Given the description of an element on the screen output the (x, y) to click on. 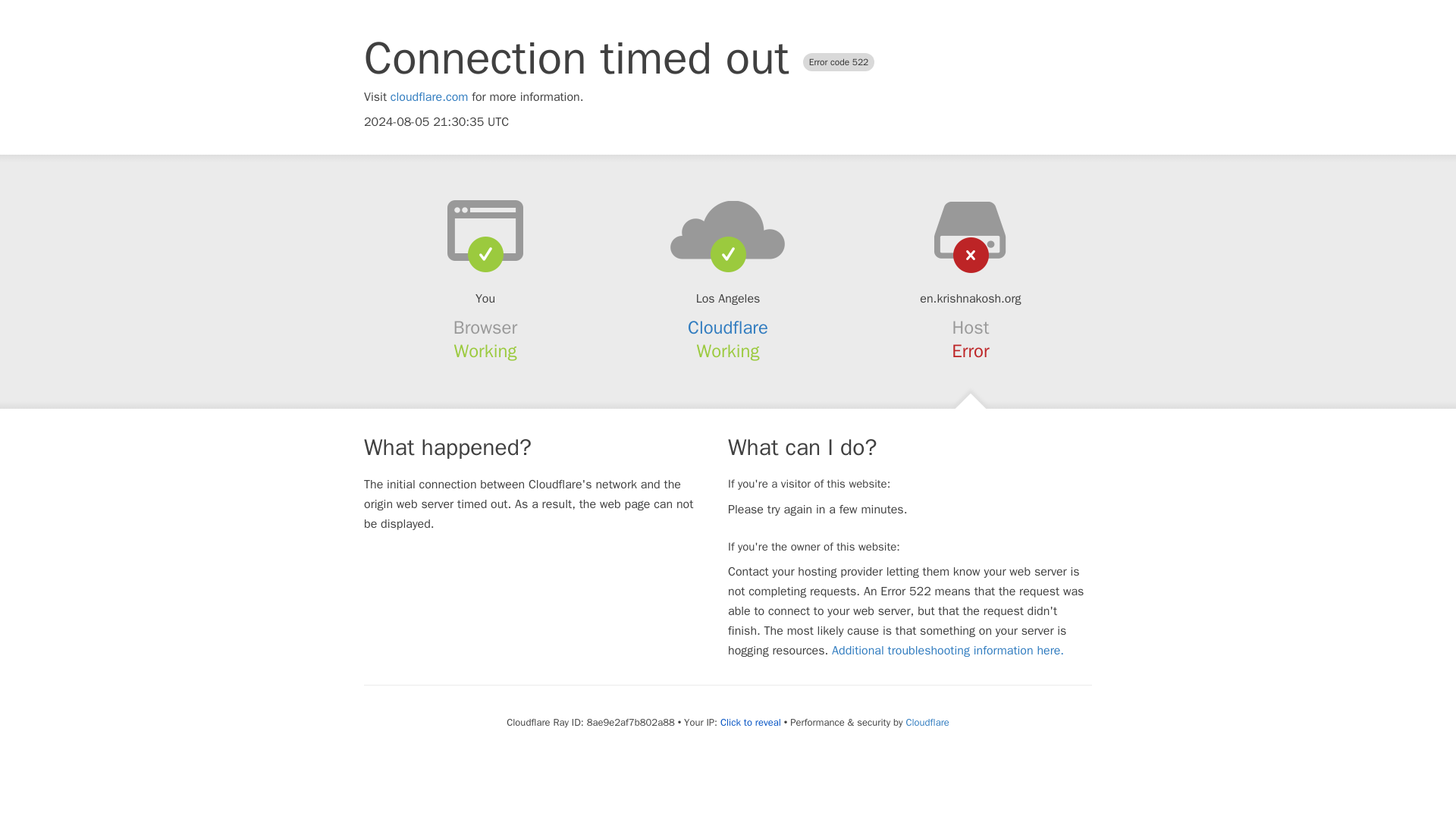
Click to reveal (750, 722)
Cloudflare (927, 721)
cloudflare.com (429, 96)
Cloudflare (727, 327)
Additional troubleshooting information here. (947, 650)
